Given the description of an element on the screen output the (x, y) to click on. 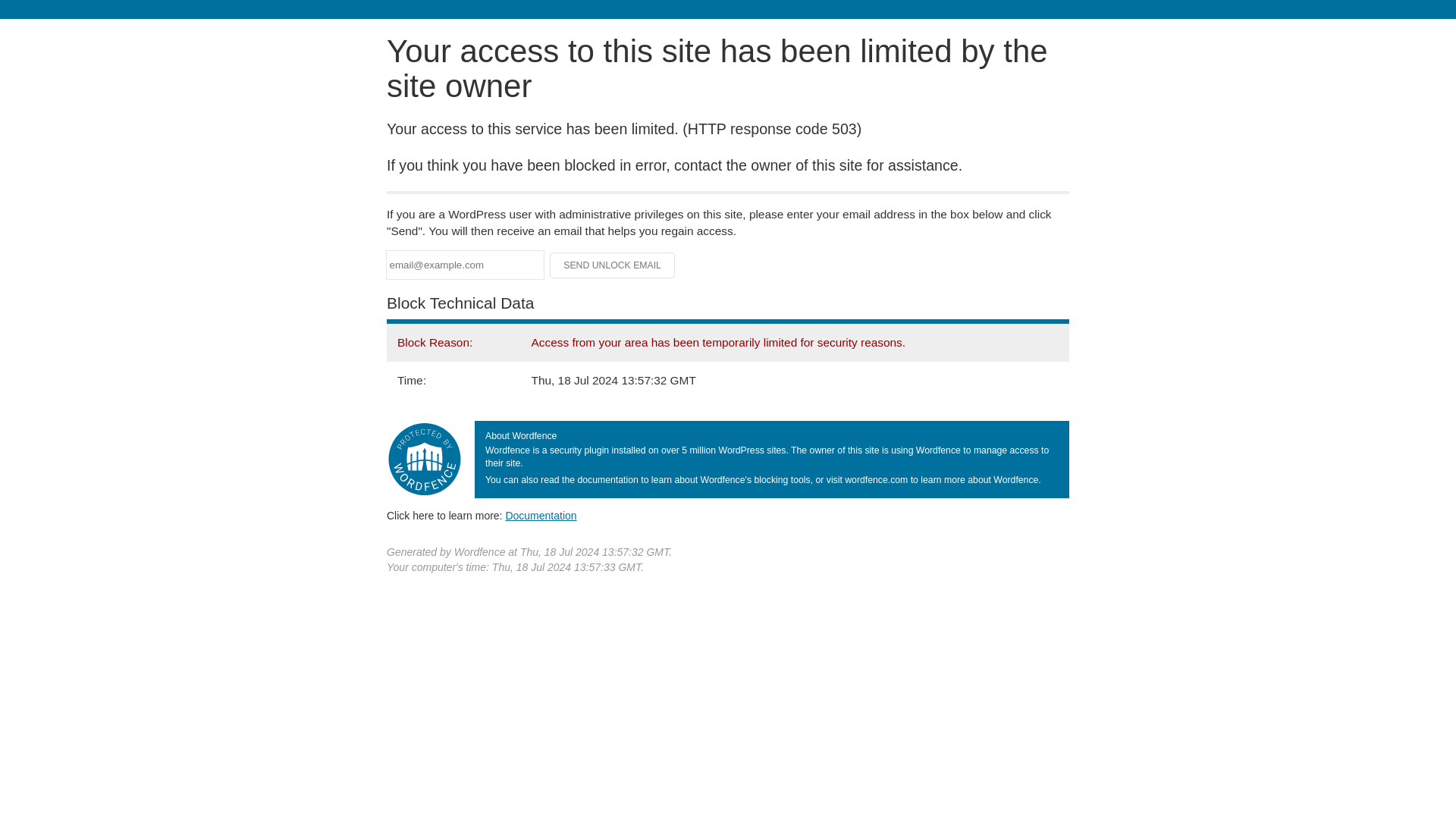
Send Unlock Email (612, 265)
Documentation (540, 515)
Send Unlock Email (612, 265)
